Given the description of an element on the screen output the (x, y) to click on. 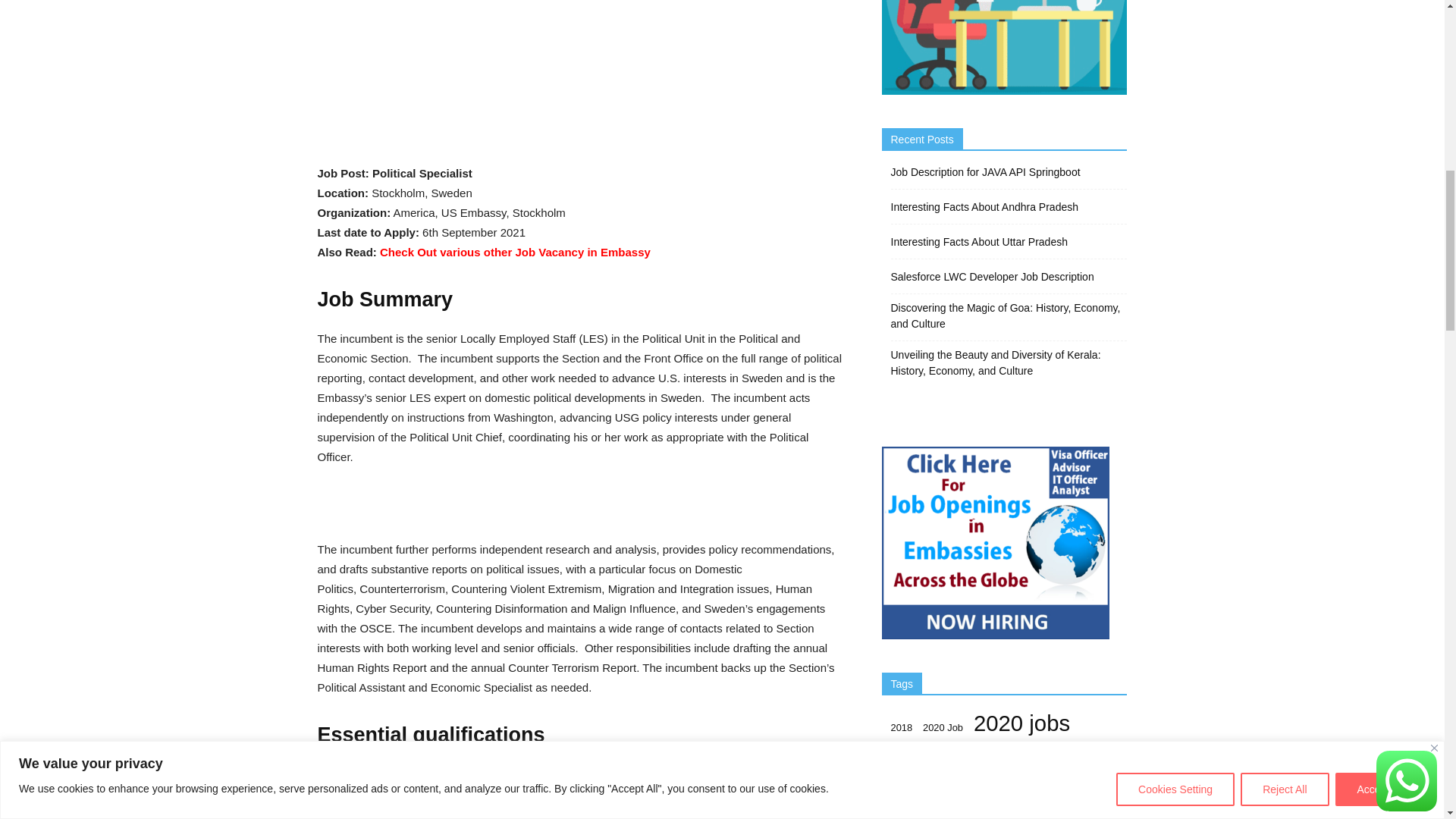
Advertisement (580, 91)
